Given the description of an element on the screen output the (x, y) to click on. 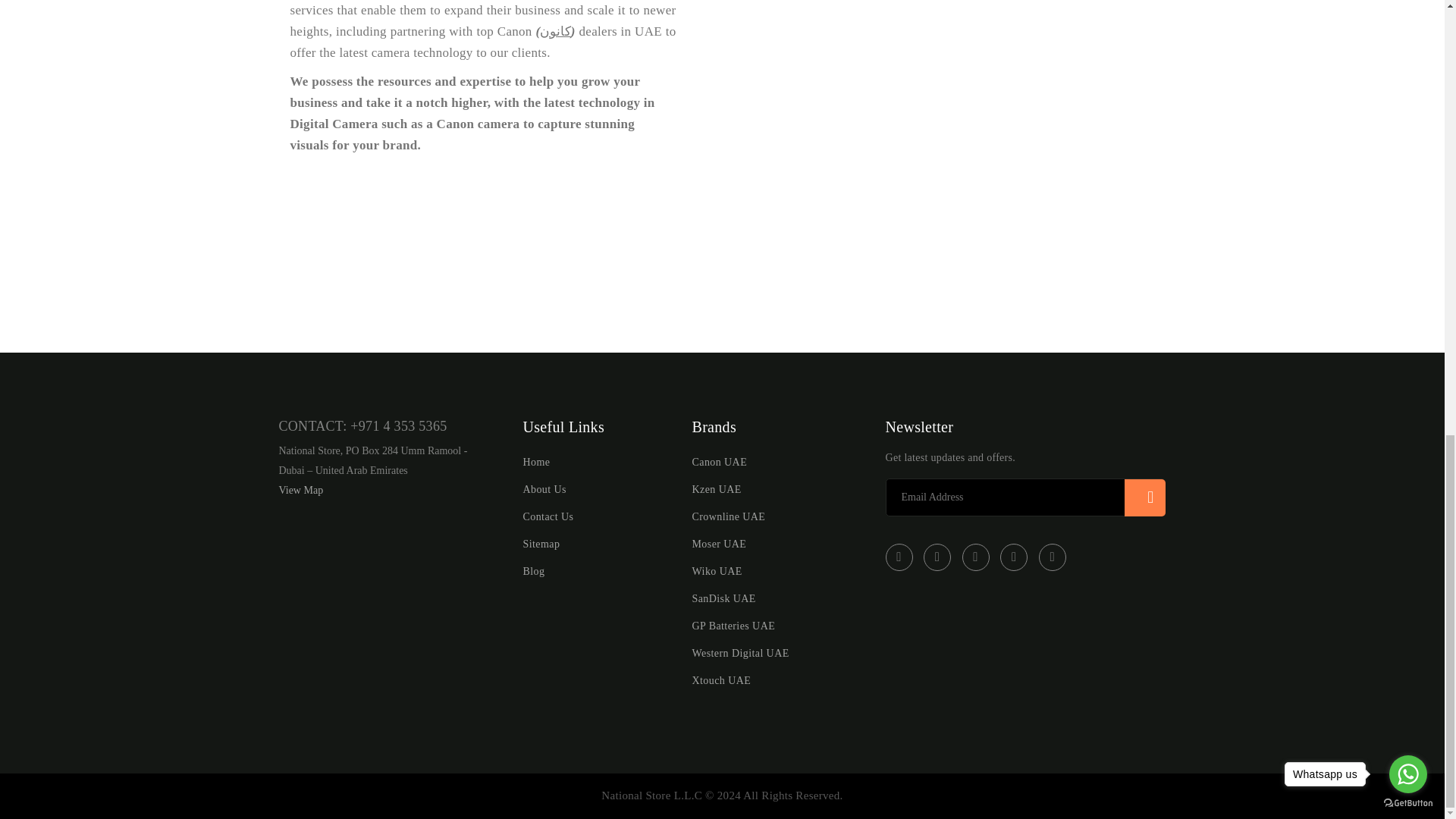
Subscribe (1145, 497)
